Given the description of an element on the screen output the (x, y) to click on. 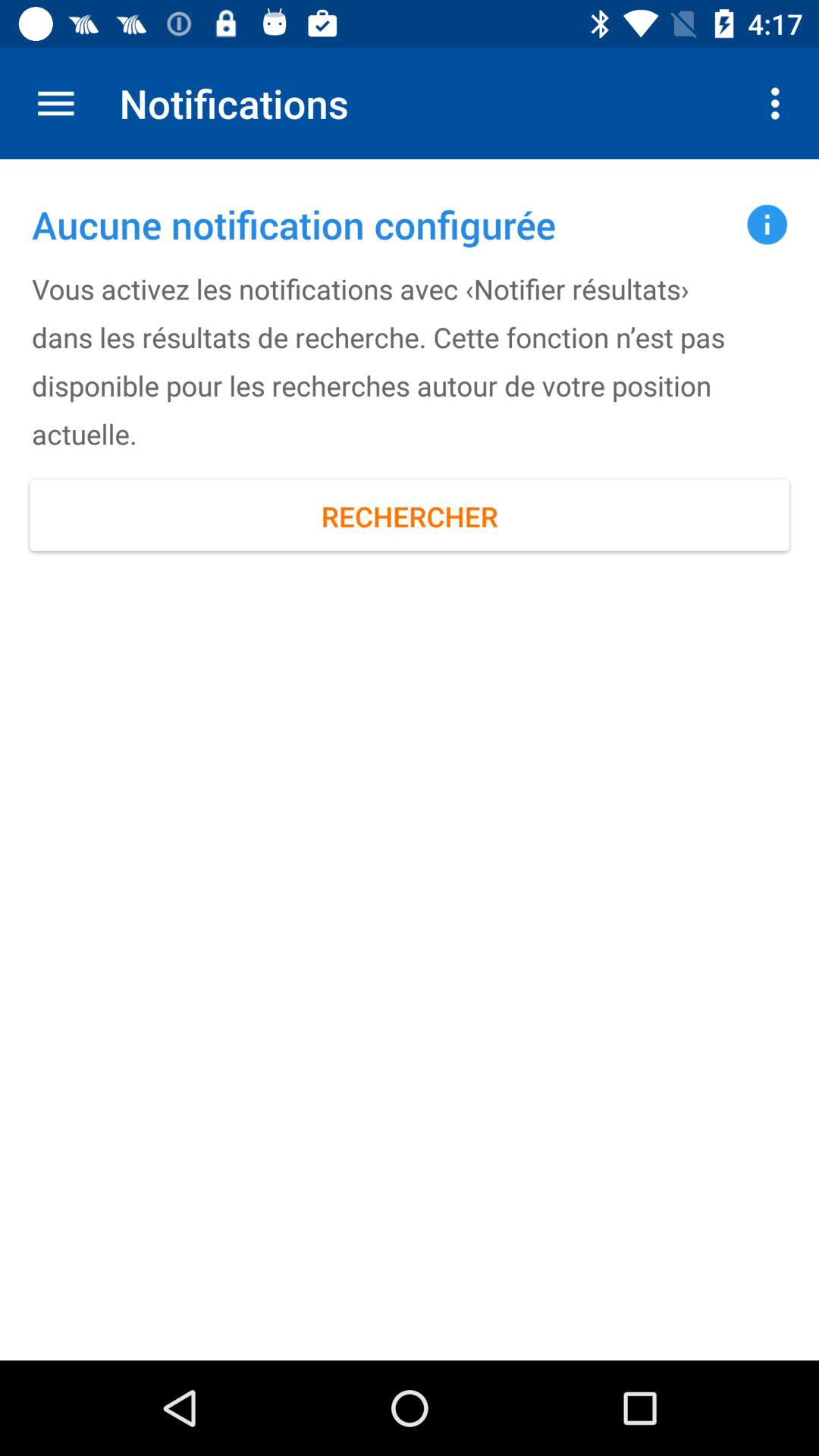
press app next to notifications (55, 103)
